Given the description of an element on the screen output the (x, y) to click on. 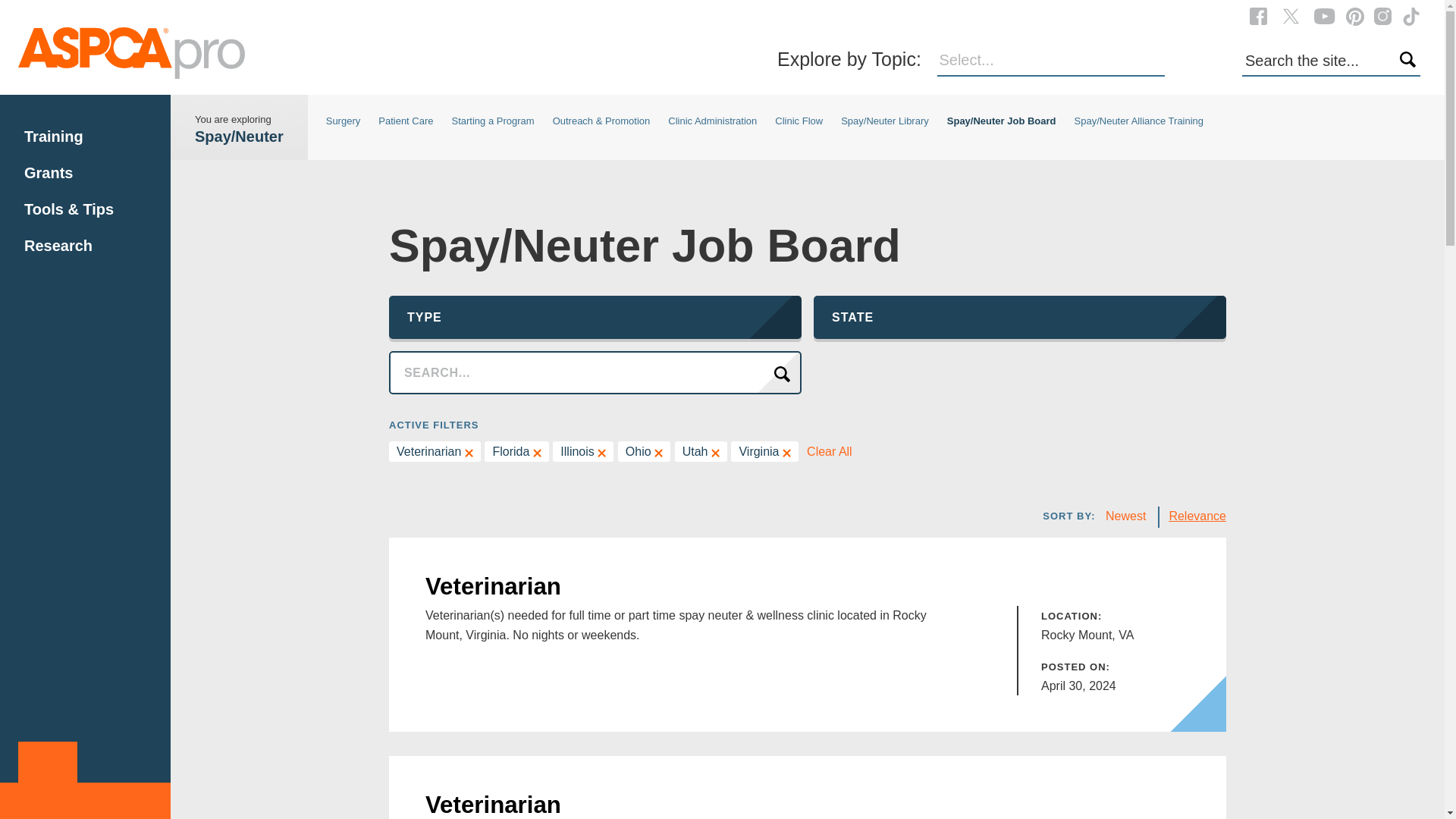
Twitter (1291, 16)
Instagram (1382, 14)
Research (58, 245)
YouTube (1324, 14)
Grants (48, 172)
Training (53, 135)
Facebook (1257, 14)
Select... (1050, 60)
Twitter (1291, 14)
Instagram (1382, 16)
